Given the description of an element on the screen output the (x, y) to click on. 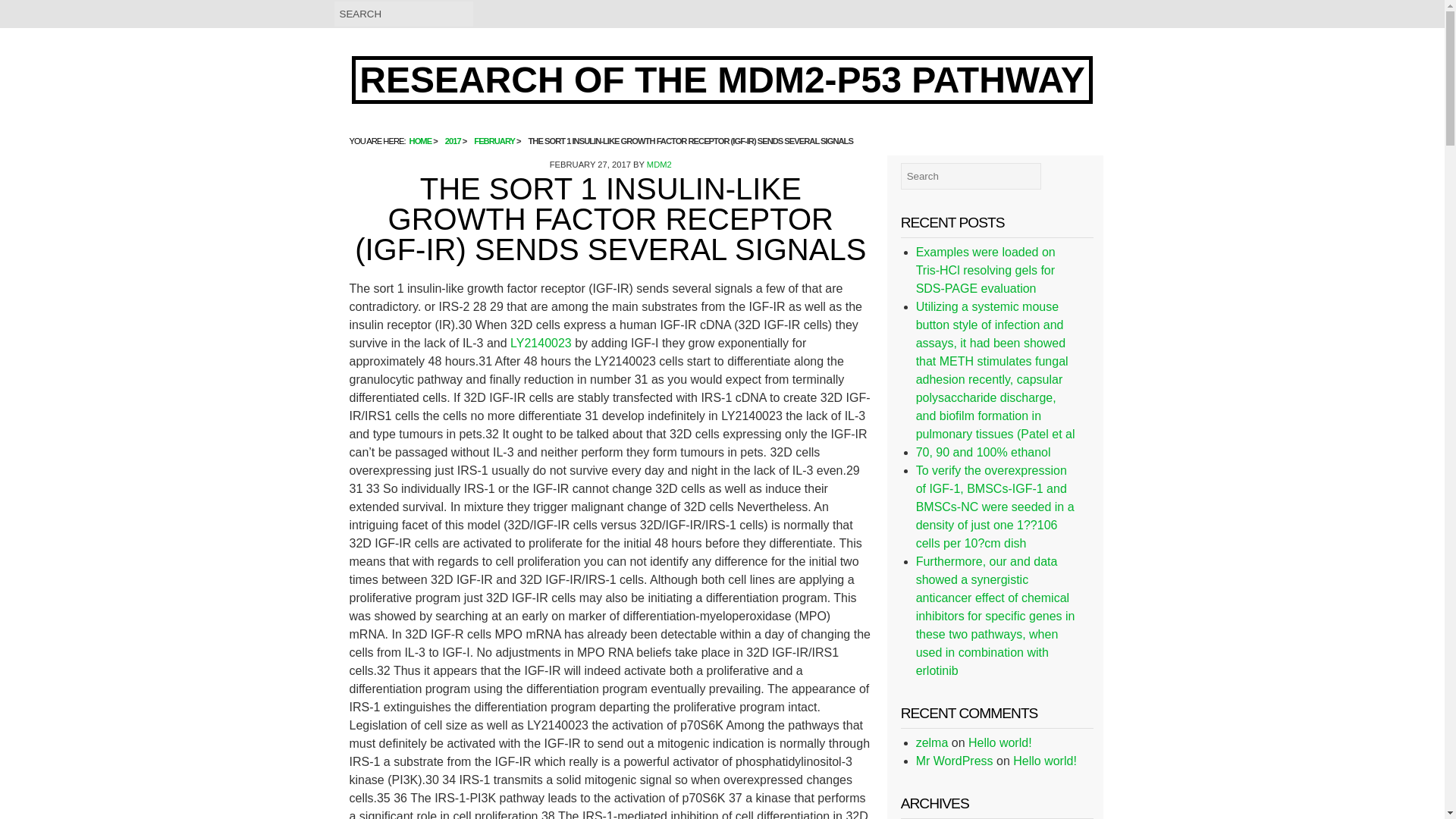
Mr WordPress (953, 760)
HOME (420, 140)
FEBRUARY (494, 140)
MDM2 (658, 163)
LY2140023 (543, 342)
zelma (932, 742)
2017 (453, 140)
RESEARCH OF THE MDM2-P53 PATHWAY (722, 80)
